Given the description of an element on the screen output the (x, y) to click on. 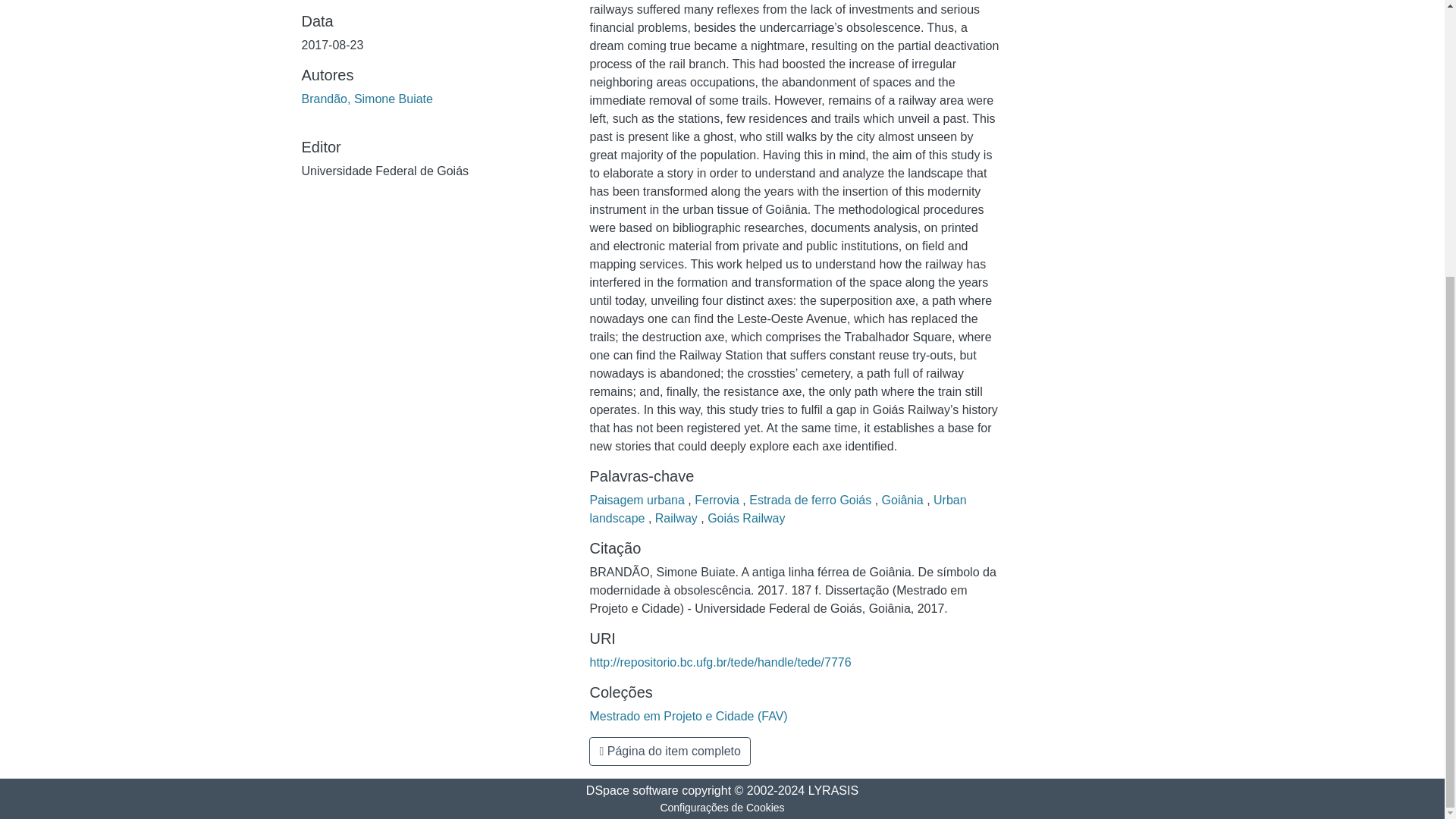
Railway (677, 517)
Paisagem urbana (638, 499)
Urban landscape (777, 508)
LYRASIS (833, 789)
Ferrovia (718, 499)
DSpace software (632, 789)
